Given the description of an element on the screen output the (x, y) to click on. 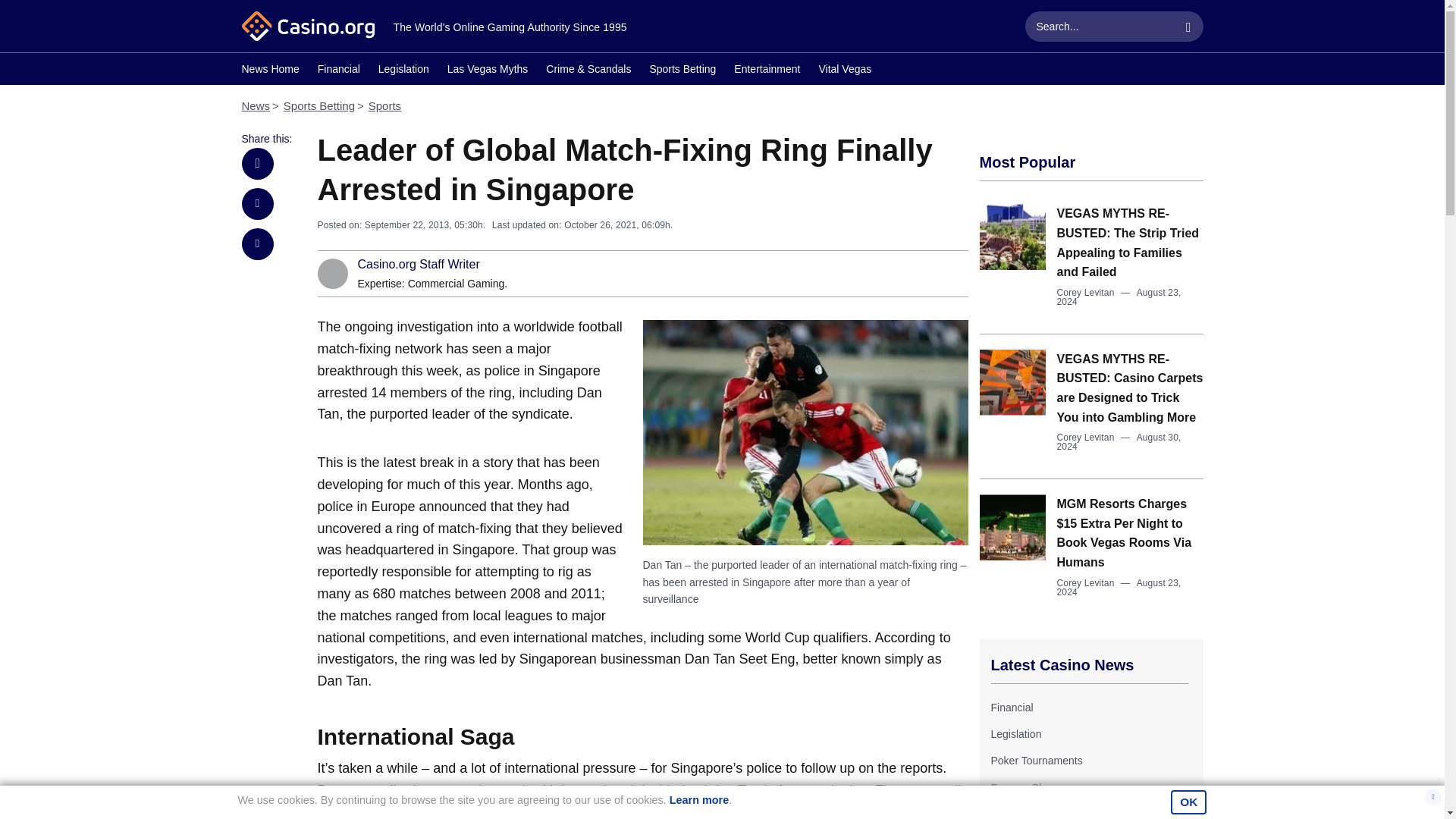
News Home (269, 70)
Corey Levitan (1086, 583)
News (255, 105)
Commercial Gaming (456, 283)
Sports Betting (319, 105)
Famous Players (1028, 787)
Legislation (403, 70)
Legislation (1015, 734)
Financial (338, 70)
